Given the description of an element on the screen output the (x, y) to click on. 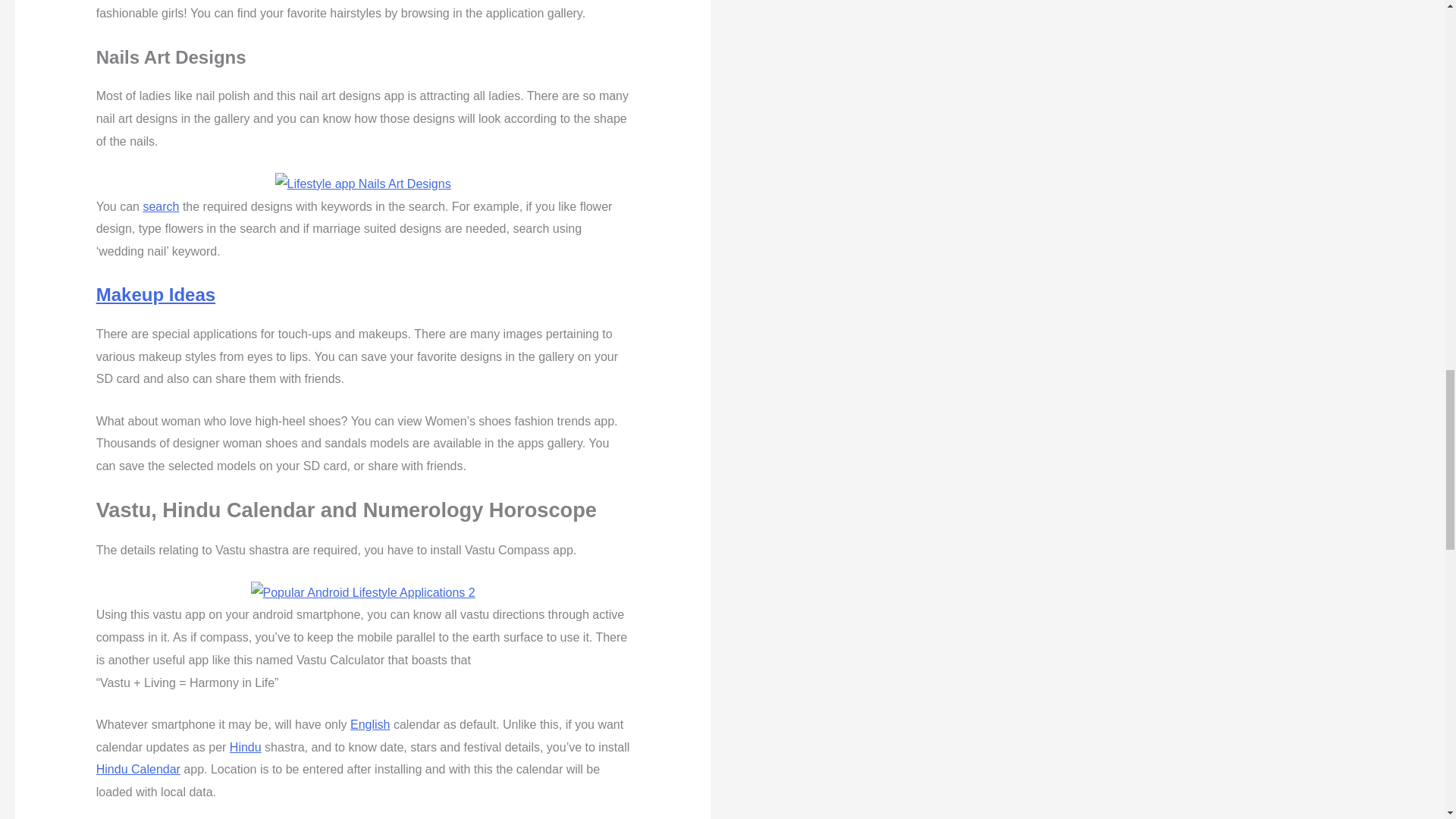
Hindu Calendar (138, 768)
English (370, 724)
Hindu (246, 747)
search (160, 205)
Google Search Tips (160, 205)
Makeup Ideas (155, 294)
